Given the description of an element on the screen output the (x, y) to click on. 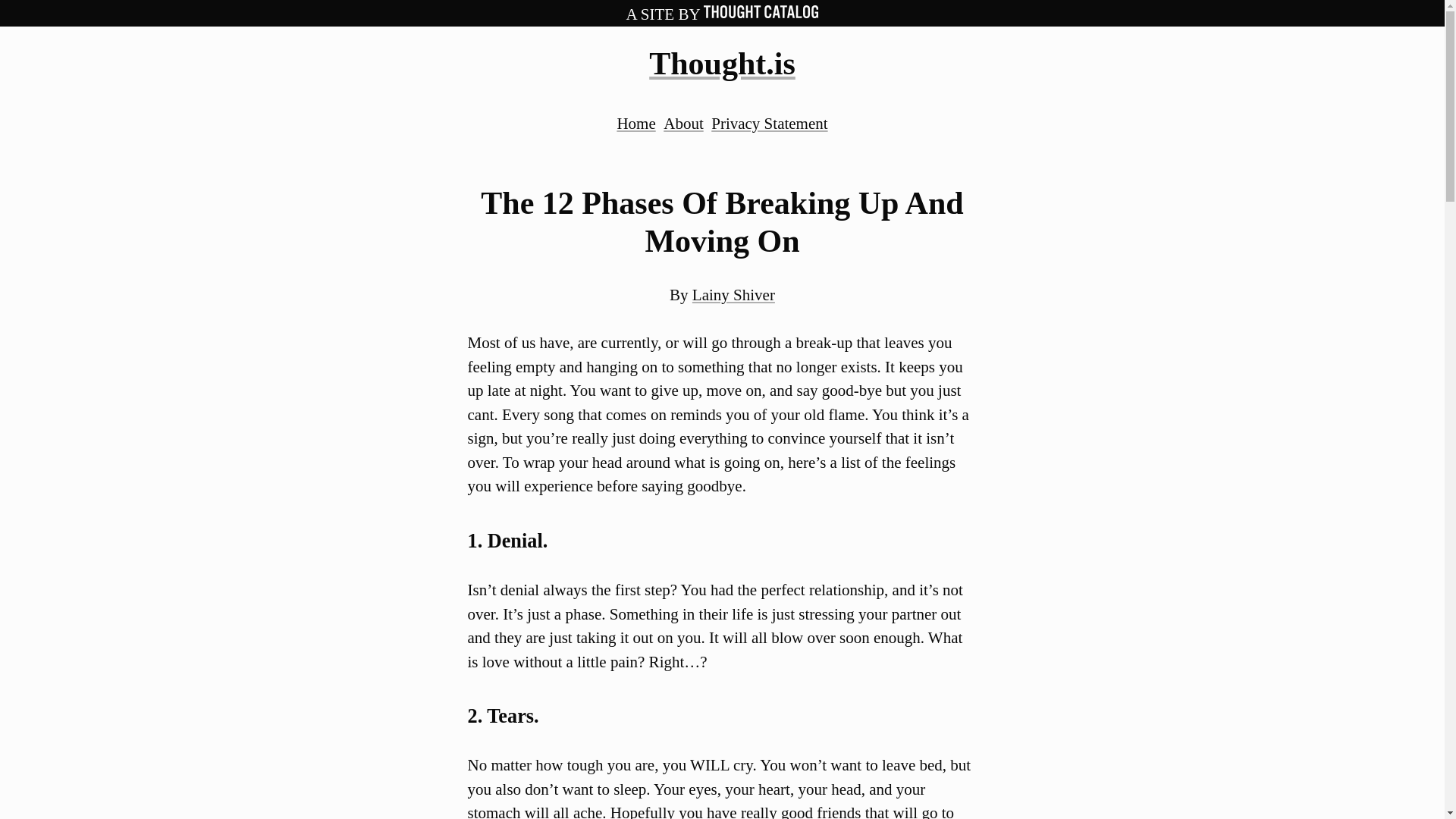
Home (635, 123)
About (683, 123)
THOUGHT CATALOG (760, 13)
Posts by Lainy Shiver (733, 294)
Thought.is (721, 63)
THOUGHT CATALOG (760, 11)
Privacy Statement (769, 123)
Lainy Shiver (733, 294)
